Given the description of an element on the screen output the (x, y) to click on. 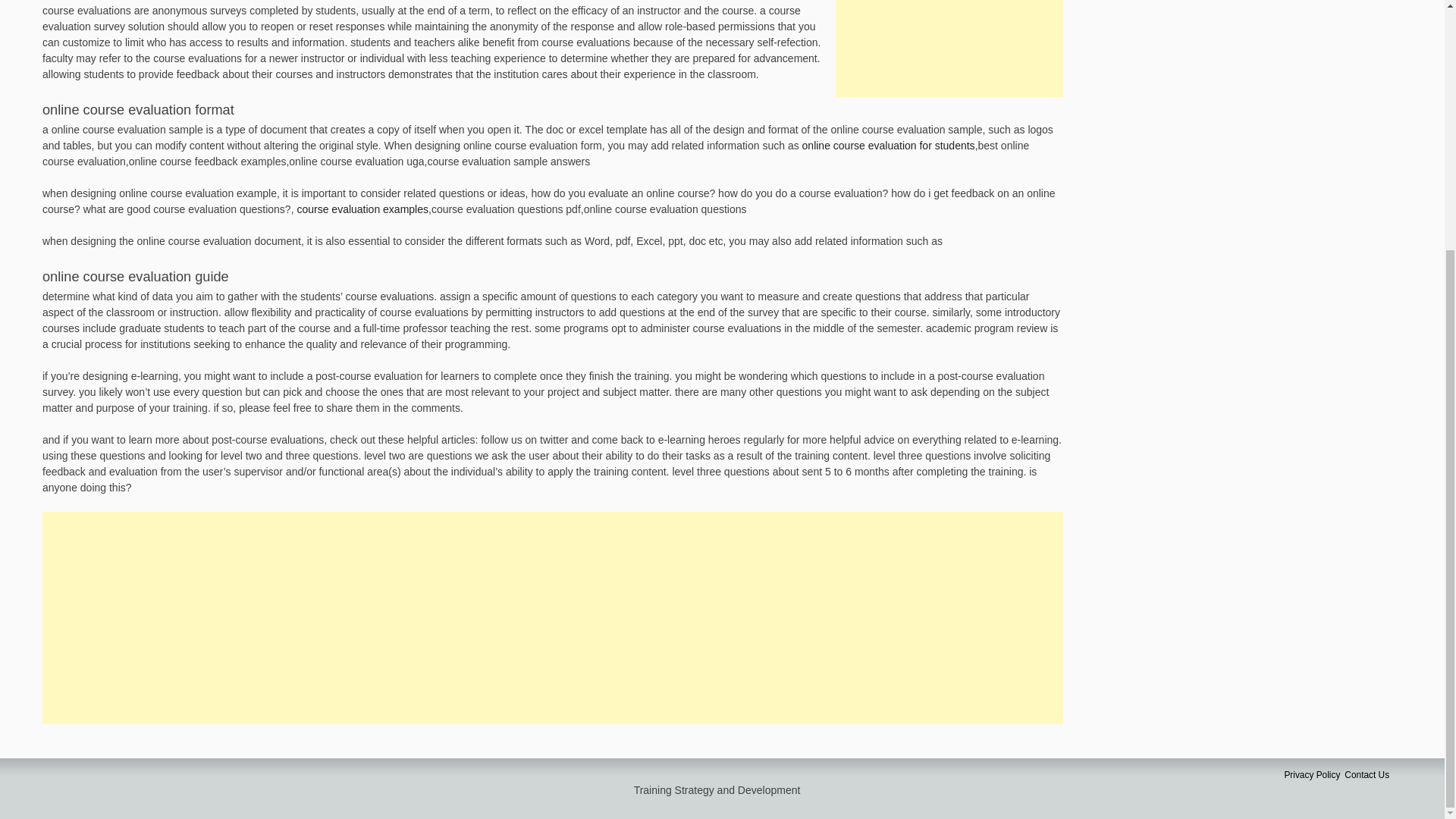
Contact Us (1366, 774)
course evaluation examples (362, 209)
Privacy Policy (1311, 774)
online course evaluation for students (888, 145)
